Given the description of an element on the screen output the (x, y) to click on. 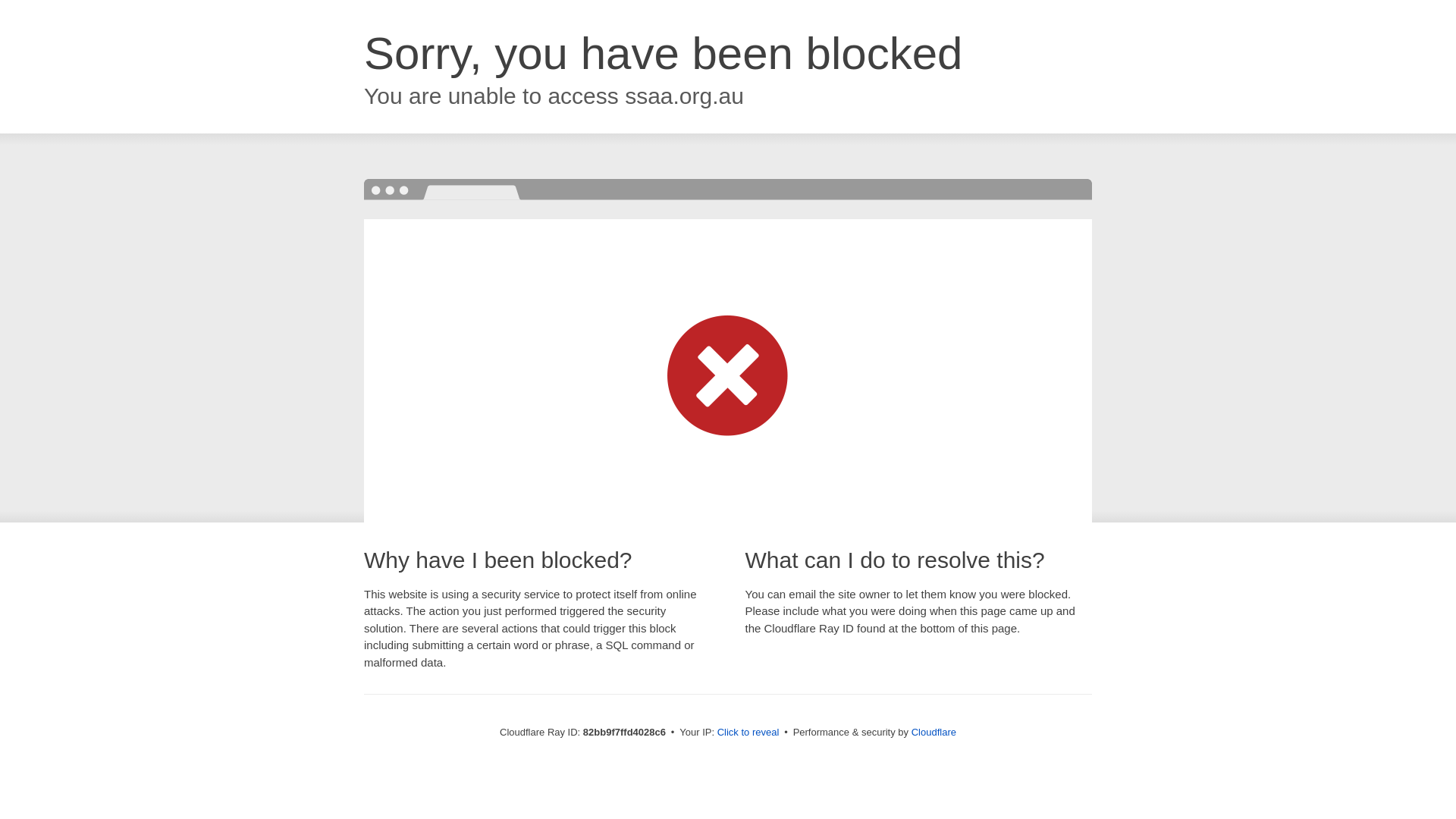
Click to reveal Element type: text (748, 732)
Cloudflare Element type: text (933, 731)
